Given the description of an element on the screen output the (x, y) to click on. 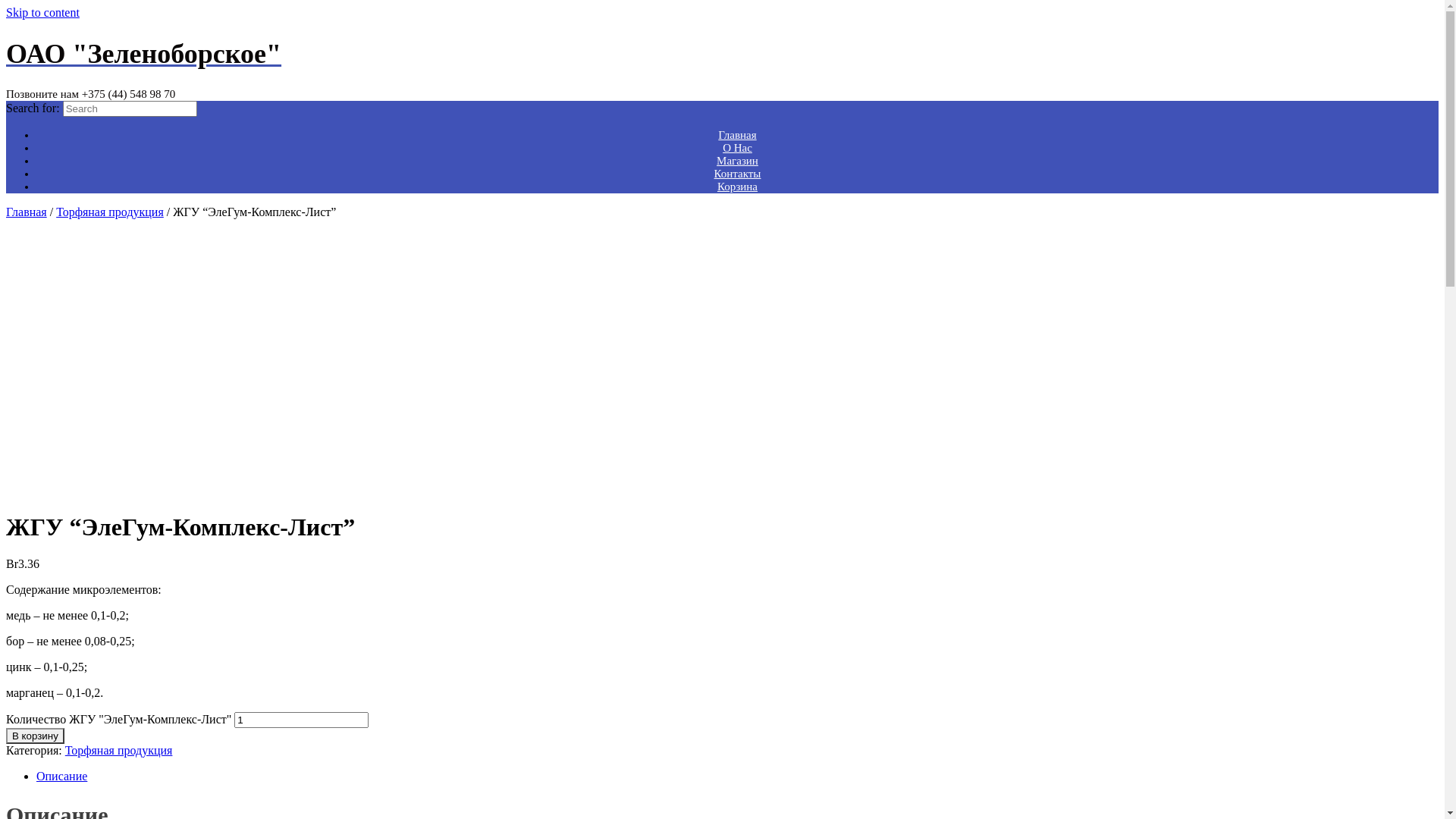
Skip to content Element type: text (42, 12)
